Given the description of an element on the screen output the (x, y) to click on. 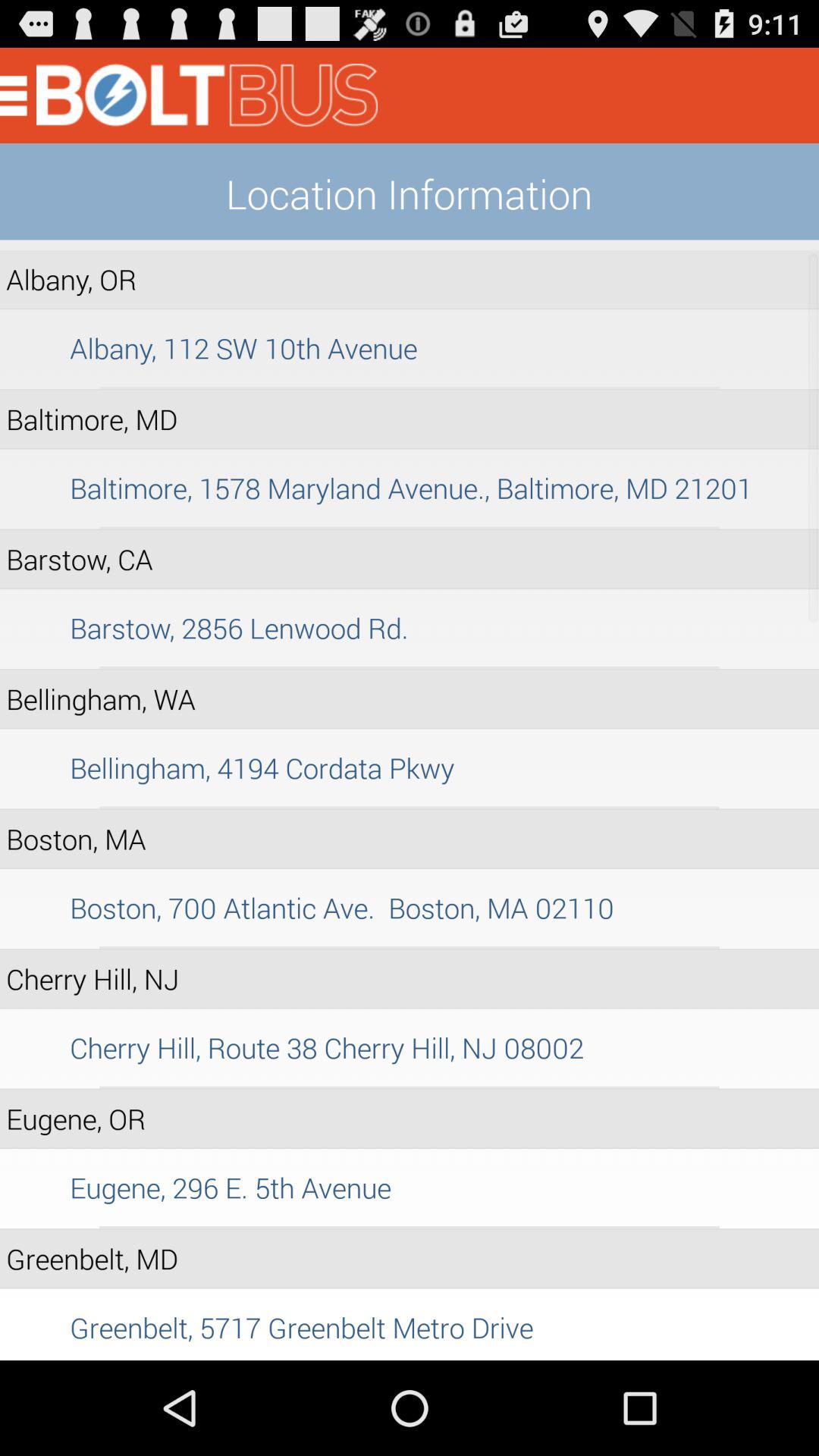
press item below albany 112 sw app (409, 387)
